Given the description of an element on the screen output the (x, y) to click on. 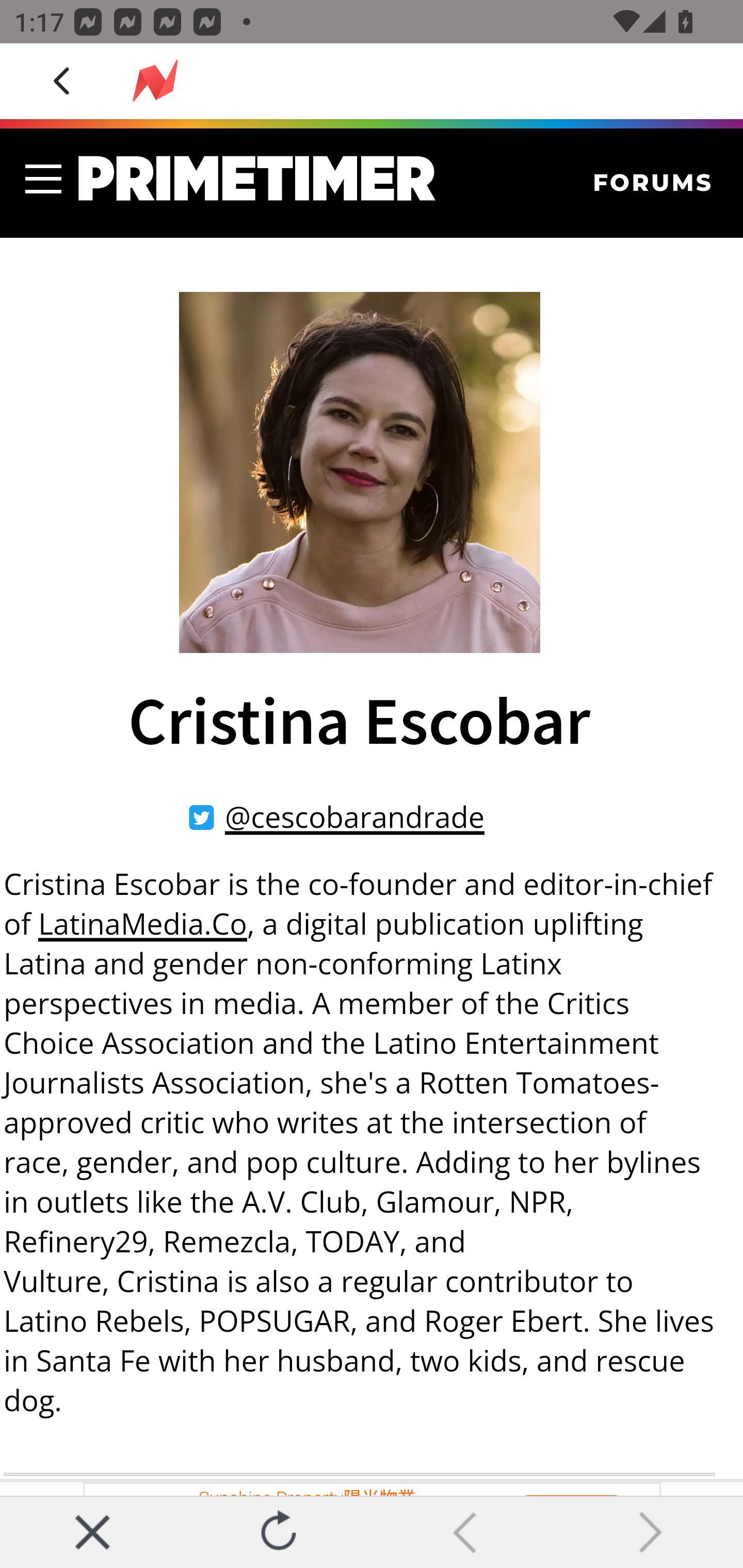
PRIMETIMER (256, 178)
FORUMS (653, 183)
@cescobarandrade (354, 816)
LatinaMedia.Co (142, 923)
